Given the description of an element on the screen output the (x, y) to click on. 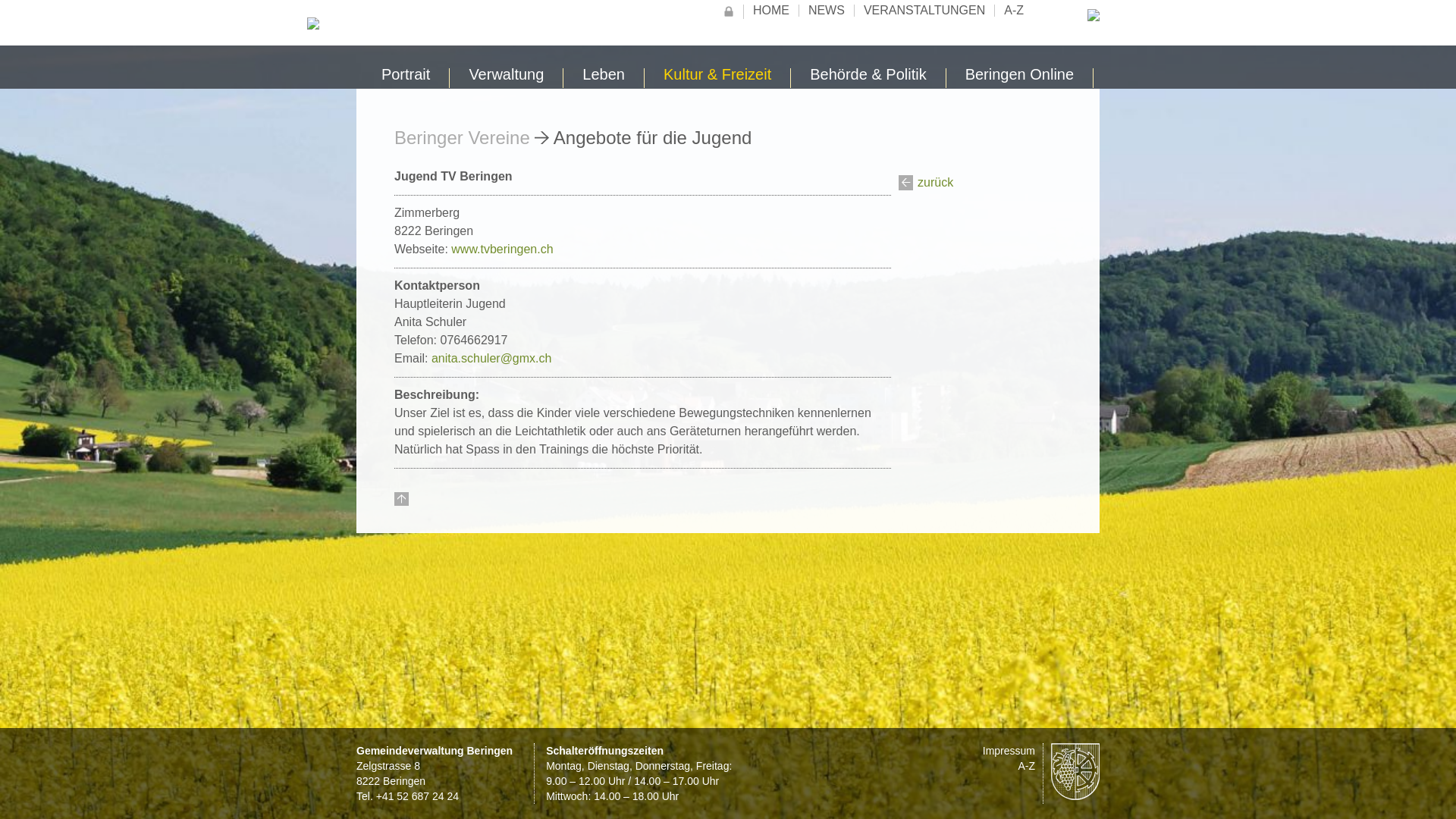
Anmelden Element type: hover (728, 11)
www.tvberingen.ch Element type: text (501, 248)
Leben Element type: text (603, 77)
Verwaltung Element type: text (506, 77)
anita.schuler@gmx.ch Element type: text (491, 357)
VERANSTALTUNGEN Element type: text (924, 9)
Beringen Online Element type: text (1019, 77)
A-Z Element type: text (1026, 765)
HOME Element type: text (771, 9)
A-Z Element type: text (1013, 9)
Impressum Element type: text (1008, 750)
Kultur & Freizeit Element type: text (717, 77)
Portrait Element type: text (405, 77)
NEWS Element type: text (826, 9)
